Given the description of an element on the screen output the (x, y) to click on. 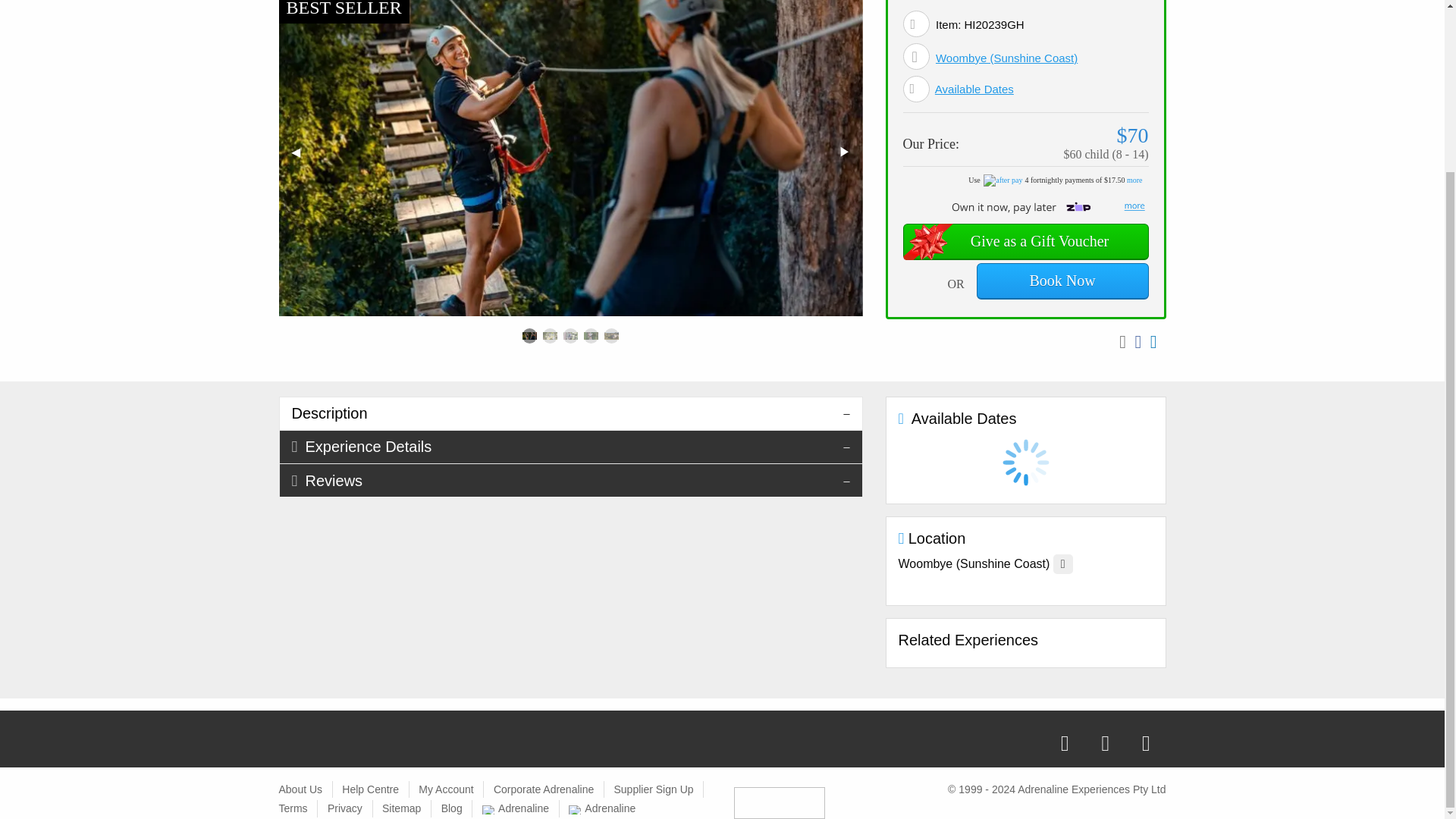
Book Now (1062, 280)
Terms (293, 808)
Adrenaline USA (601, 808)
About Us (301, 788)
Blog (452, 808)
Item Number (916, 23)
Sitemap (400, 808)
My Account (446, 788)
Adrenaline Australia (514, 808)
Become a Supplier (652, 788)
